Given the description of an element on the screen output the (x, y) to click on. 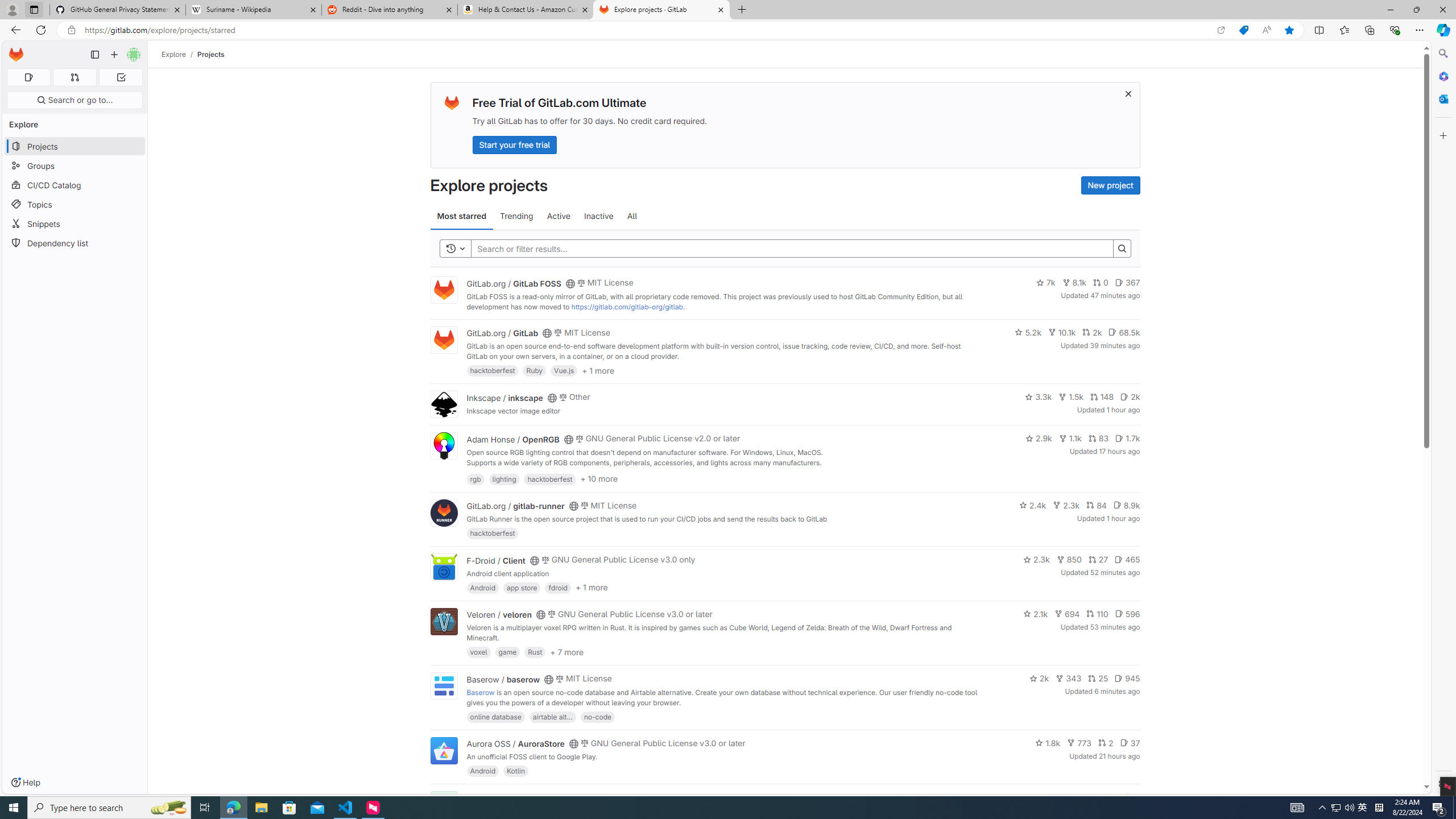
8.1k (1073, 282)
83 (1098, 438)
Assigned issues 0 (28, 76)
CI/CD Catalog (74, 185)
Baserow / baserow (502, 678)
Aurora OSS / AuroraStore (514, 743)
2.4k (1032, 504)
fdroid (558, 587)
25 (1097, 678)
